Given the description of an element on the screen output the (x, y) to click on. 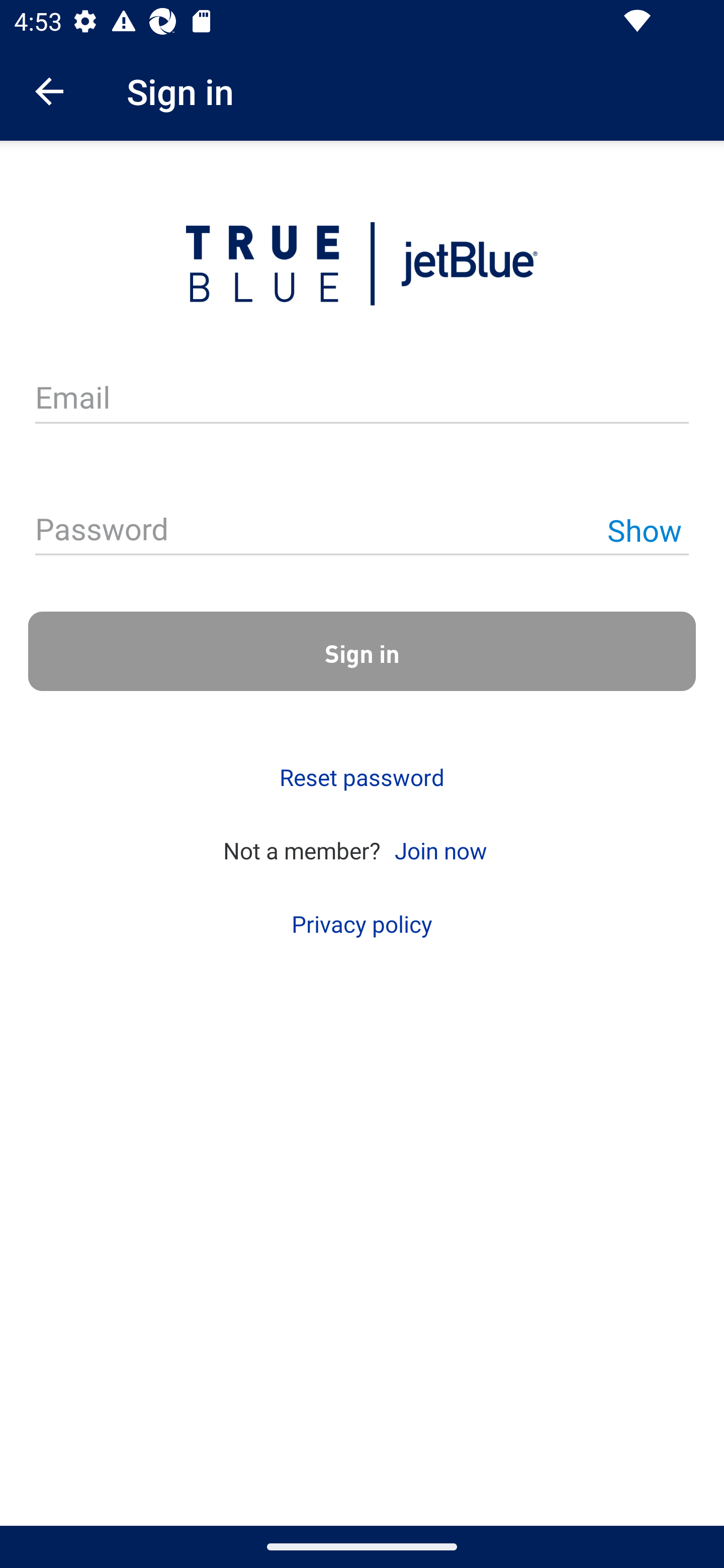
Navigate up (49, 91)
Email (361, 398)
Password (361, 530)
Show (643, 529)
Sign in (361, 651)
Reset password (361, 776)
Join now (440, 849)
Privacy policy (361, 923)
